Given the description of an element on the screen output the (x, y) to click on. 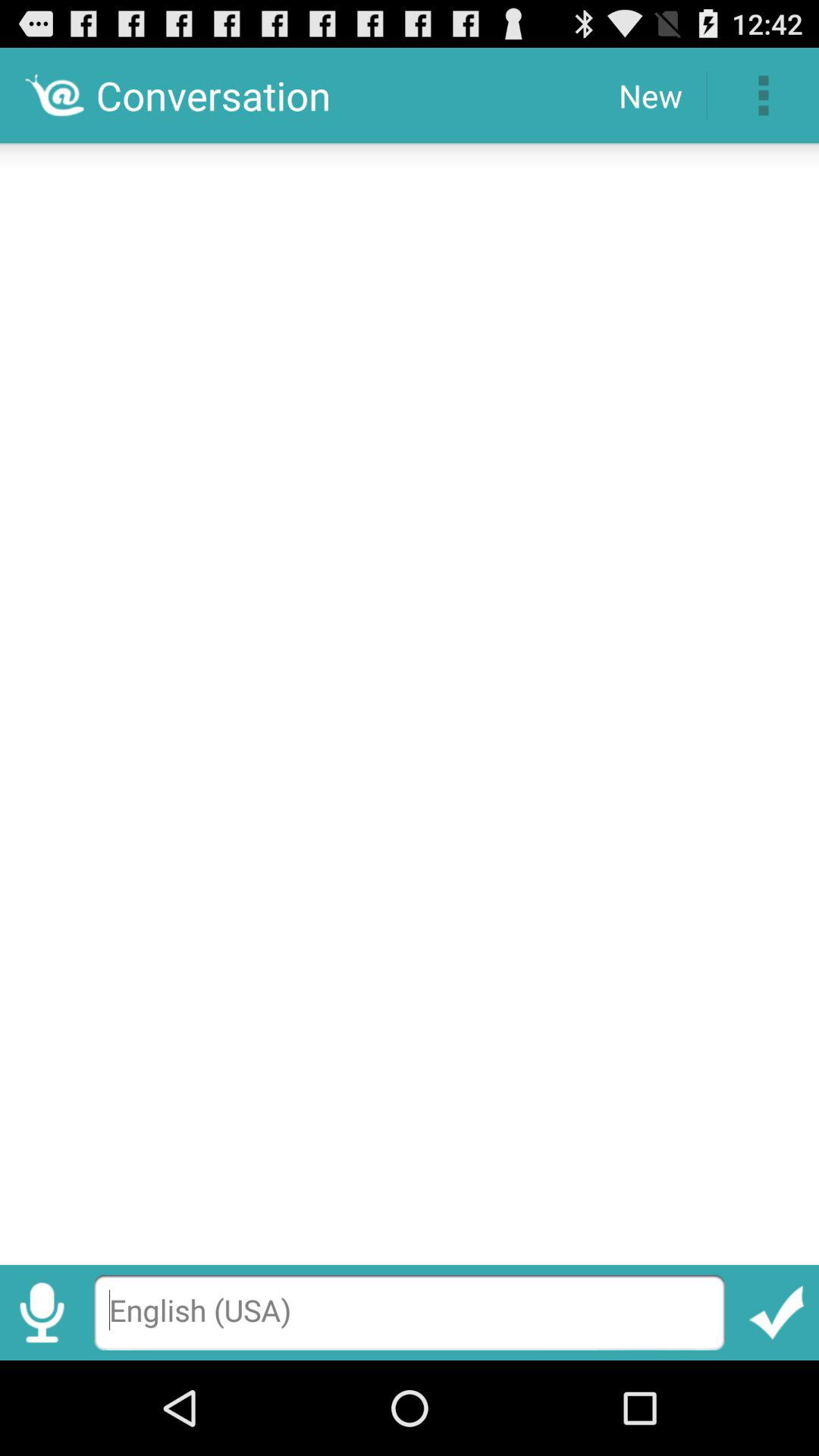
microphone option (42, 1312)
